Given the description of an element on the screen output the (x, y) to click on. 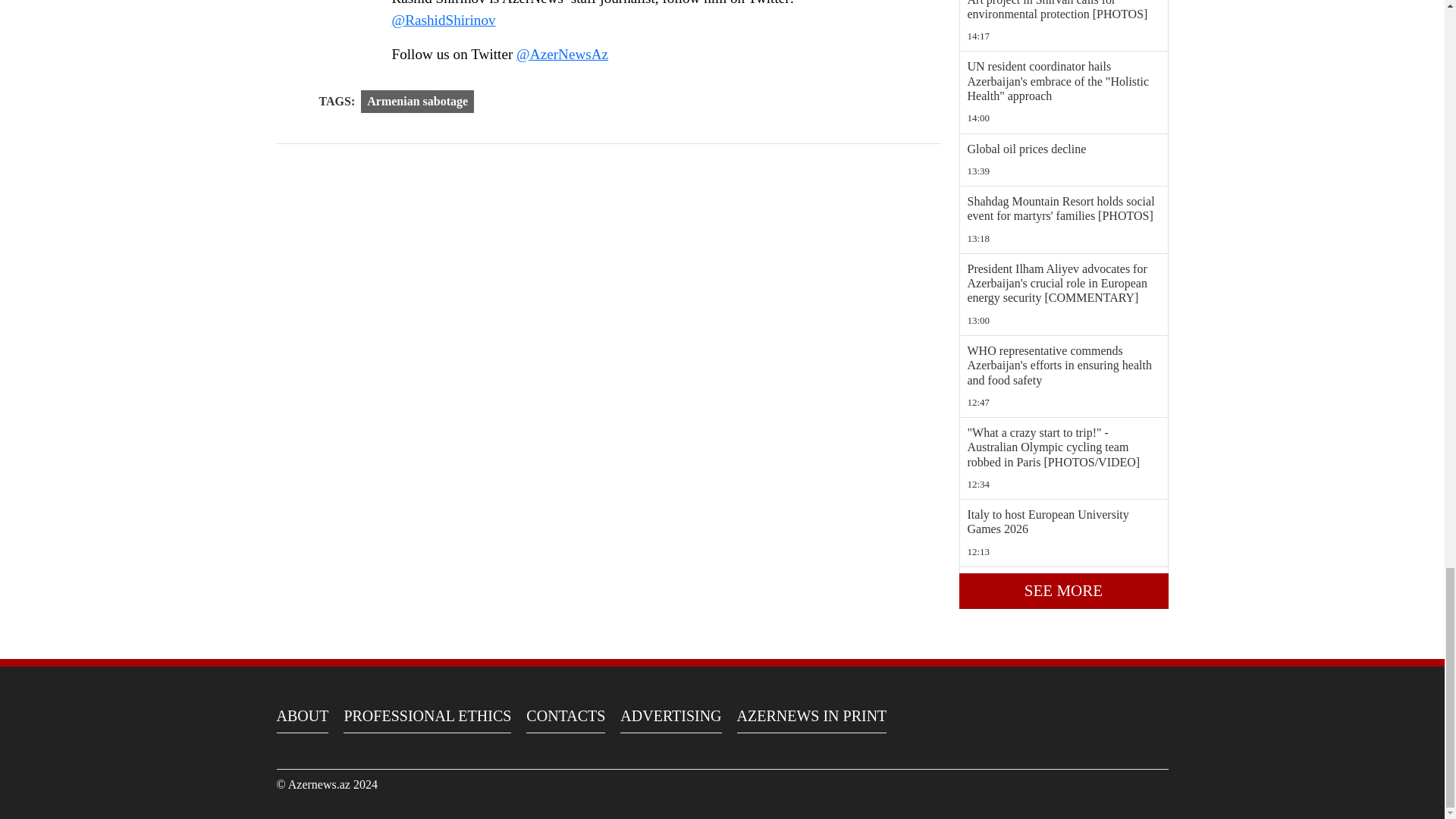
Armenian sabotage (417, 101)
